Given the description of an element on the screen output the (x, y) to click on. 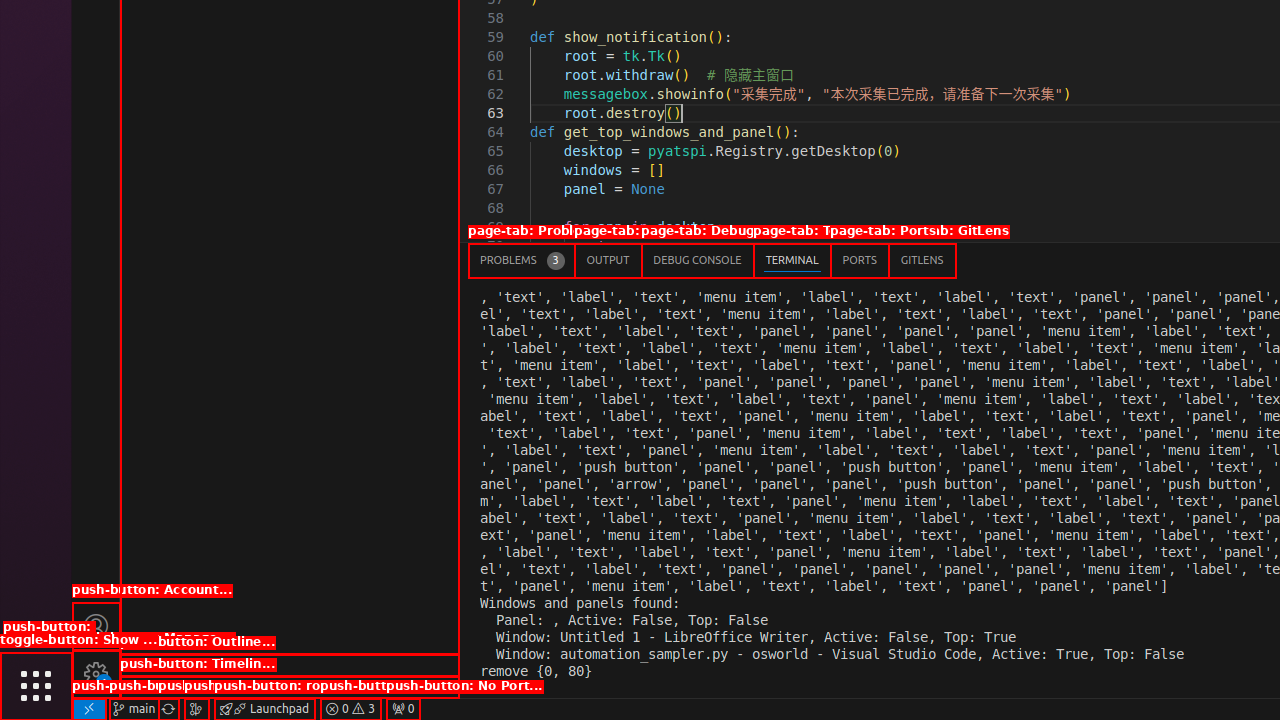
OSWorld (Git) - main, Checkout Branch/Tag... Element type: push-button (134, 709)
Output (Ctrl+K Ctrl+H) Element type: page-tab (608, 260)
remote Element type: push-button (89, 709)
Manage - New Code update available. Element type: push-button (96, 674)
